Given the description of an element on the screen output the (x, y) to click on. 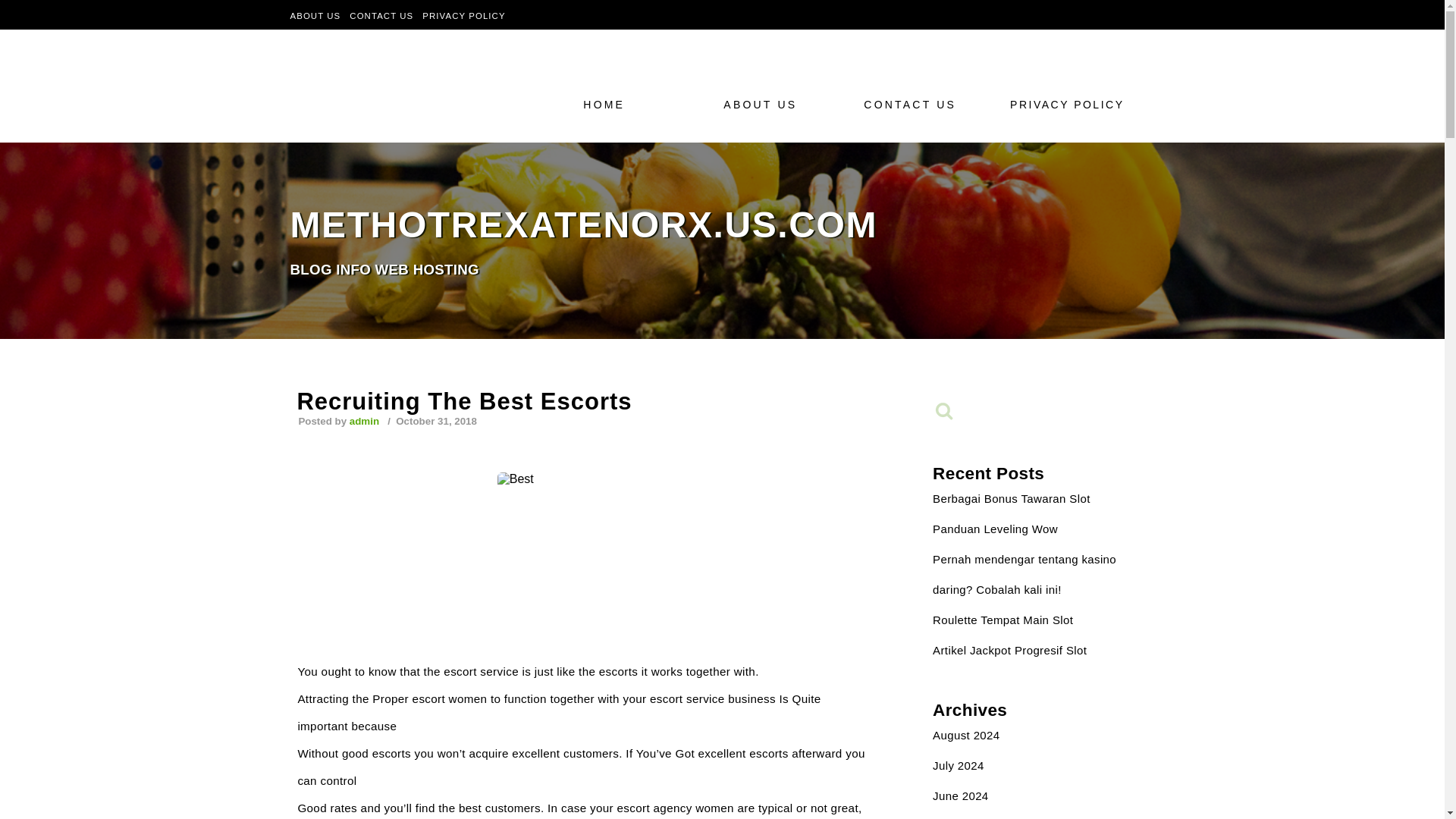
Panduan Leveling Wow (995, 528)
August 2024 (965, 735)
July 2024 (958, 765)
Artikel Jackpot Progresif Slot (1009, 649)
ABOUT US (770, 104)
HOME (630, 104)
October 31, 2018 (435, 420)
Roulette Tempat Main Slot (1003, 619)
Berbagai Bonus Tawaran Slot (1011, 498)
June 2024 (960, 795)
